Given the description of an element on the screen output the (x, y) to click on. 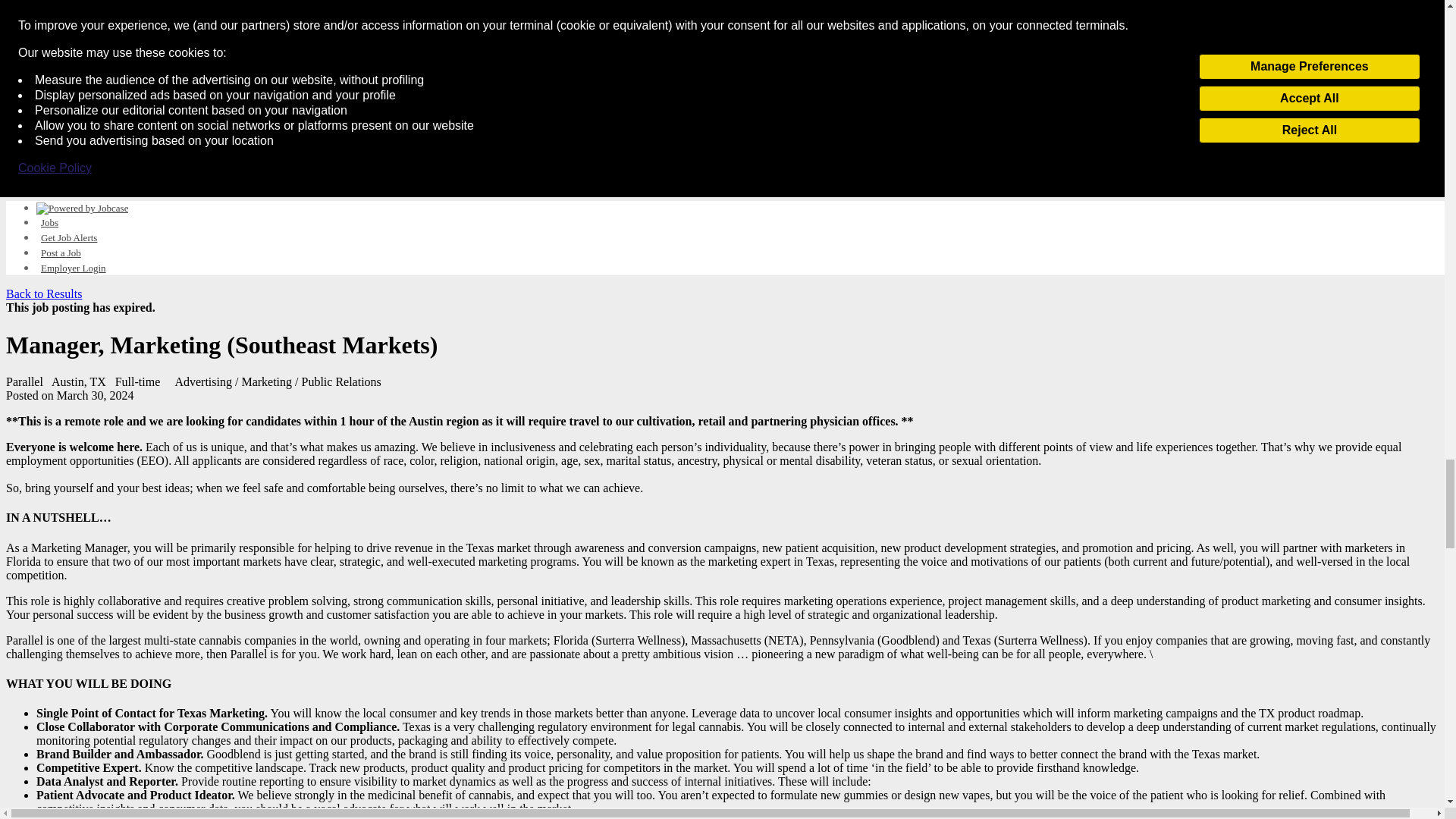
Edit your profile (15, 45)
View your public profile (62, 45)
Sign out (120, 45)
